Given the description of an element on the screen output the (x, y) to click on. 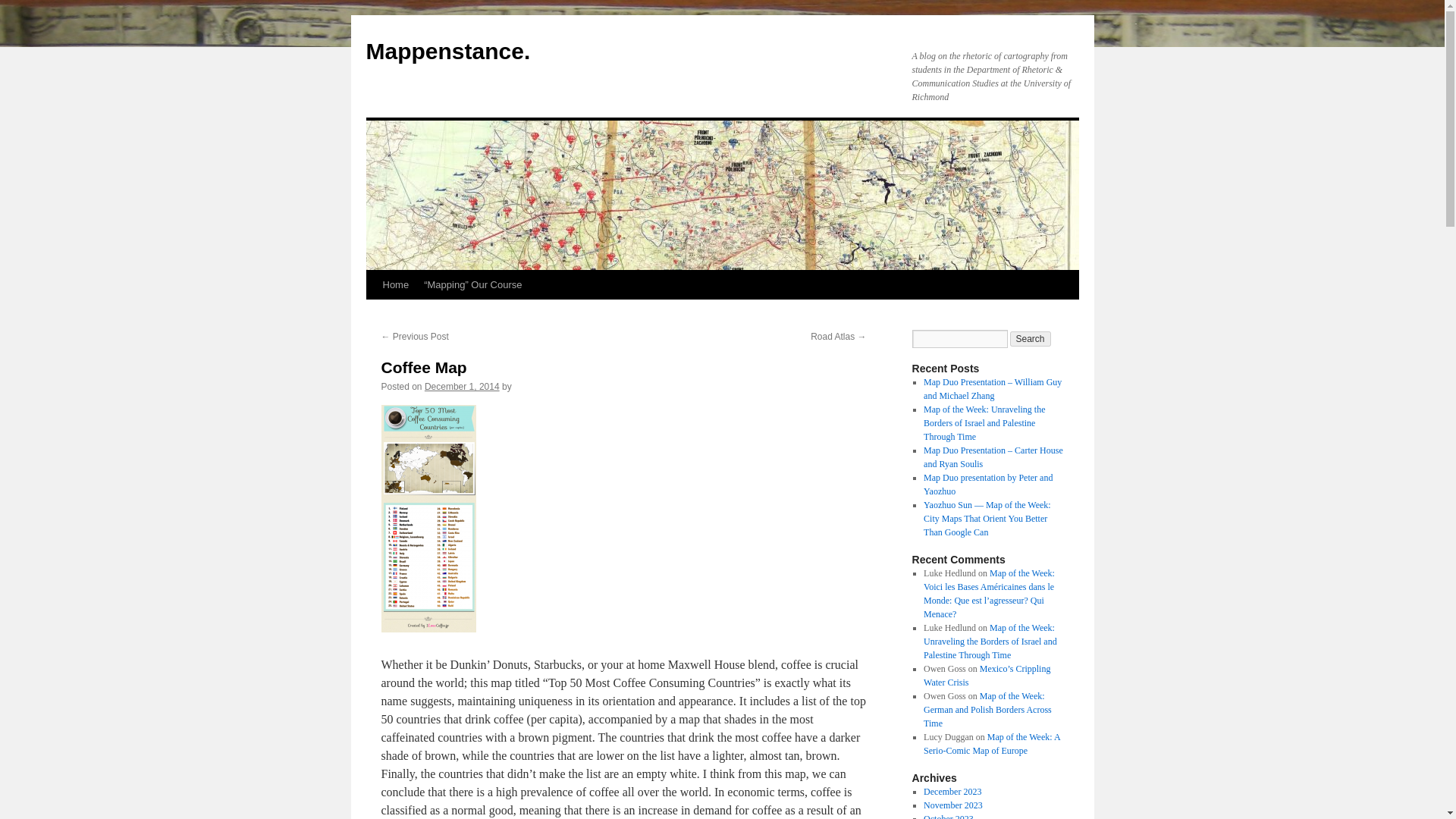
5:20 pm (462, 386)
Search (1030, 338)
October 2023 (948, 816)
December 1, 2014 (462, 386)
December 2023 (952, 791)
Map of the Week: A Serio-Comic Map of Europe (991, 743)
Map Duo presentation by Peter and Yaozhuo (987, 484)
November 2023 (952, 805)
